Given the description of an element on the screen output the (x, y) to click on. 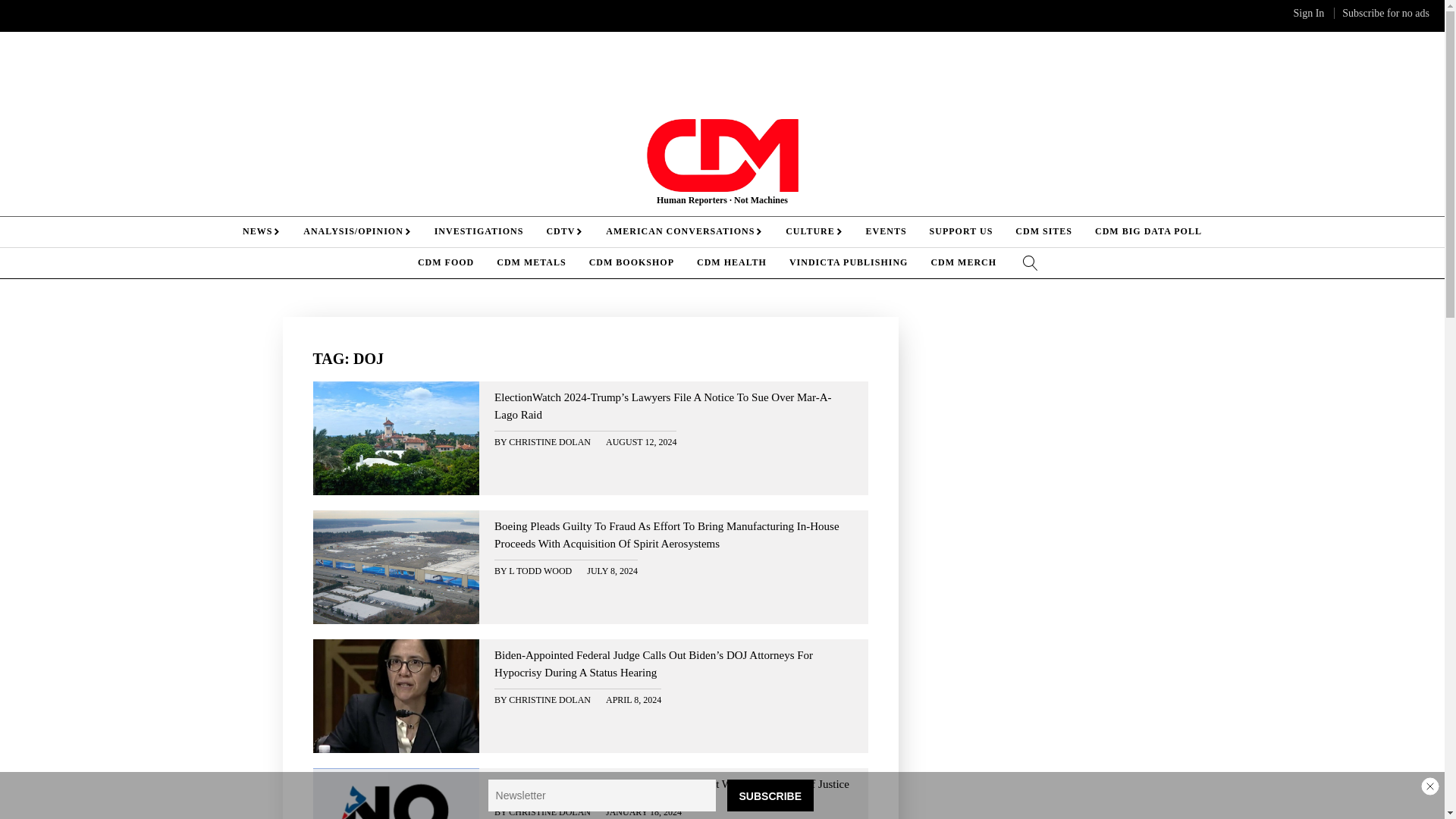
AMERICAN CONVERSATIONS (684, 231)
INVESTIGATIONS (479, 231)
SUBSCRIBE (769, 795)
NEWS (261, 231)
CDTV (564, 231)
